Given the description of an element on the screen output the (x, y) to click on. 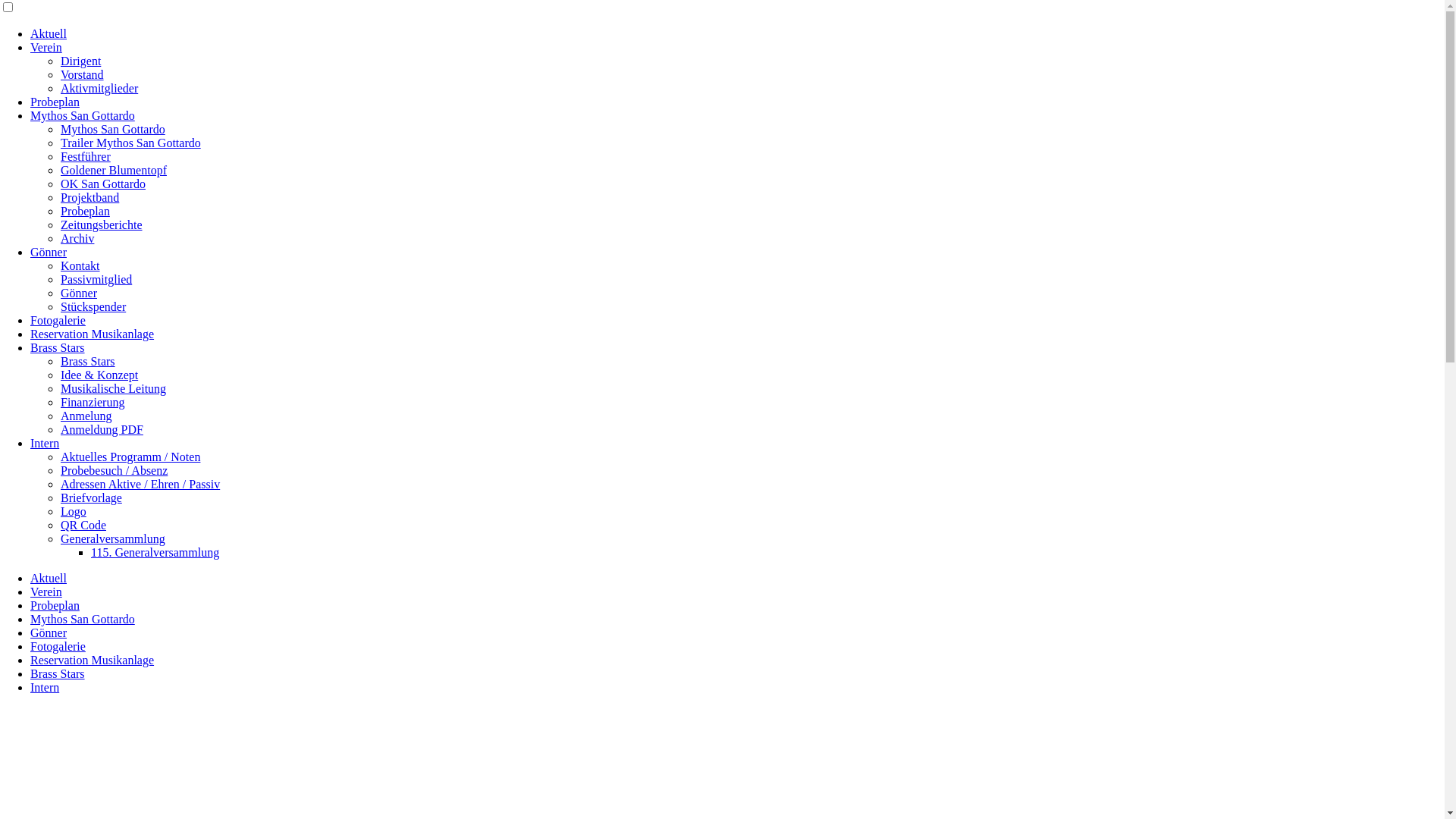
Mythos San Gottardo Element type: text (112, 128)
Kontakt Element type: text (80, 265)
Probeplan Element type: text (84, 210)
Idee & Konzept Element type: text (99, 374)
Reservation Musikanlage Element type: text (91, 659)
Aktuelles Programm / Noten Element type: text (130, 456)
Dirigent Element type: text (80, 60)
Aktuell Element type: text (48, 33)
Briefvorlage Element type: text (91, 497)
Mythos San Gottardo Element type: text (82, 115)
Aktivmitglieder Element type: text (99, 87)
Archiv Element type: text (77, 238)
Verein Element type: text (46, 46)
Intern Element type: text (44, 442)
Anmelung Element type: text (86, 415)
Musikalische Leitung Element type: text (113, 388)
Brass Stars Element type: text (57, 347)
OK San Gottardo Element type: text (102, 183)
Vorstand Element type: text (81, 74)
Passivmitglied Element type: text (95, 279)
Anmeldung PDF Element type: text (101, 429)
Probeplan Element type: text (54, 605)
Projektband Element type: text (89, 197)
Brass Stars Element type: text (57, 673)
Trailer Mythos San Gottardo Element type: text (130, 142)
Brass Stars Element type: text (87, 360)
Verein Element type: text (46, 591)
115. Generalversammlung Element type: text (155, 552)
Goldener Blumentopf Element type: text (113, 169)
Reservation Musikanlage Element type: text (91, 333)
QR Code Element type: text (83, 524)
Mythos San Gottardo Element type: text (82, 618)
Aktuell Element type: text (48, 577)
Fotogalerie Element type: text (57, 646)
Logo Element type: text (73, 511)
Probebesuch / Absenz Element type: text (113, 470)
Generalversammlung Element type: text (112, 538)
Intern Element type: text (44, 686)
Zeitungsberichte Element type: text (101, 224)
Probeplan Element type: text (54, 101)
Adressen Aktive / Ehren / Passiv Element type: text (139, 483)
Fotogalerie Element type: text (57, 319)
Finanzierung Element type: text (92, 401)
